Given the description of an element on the screen output the (x, y) to click on. 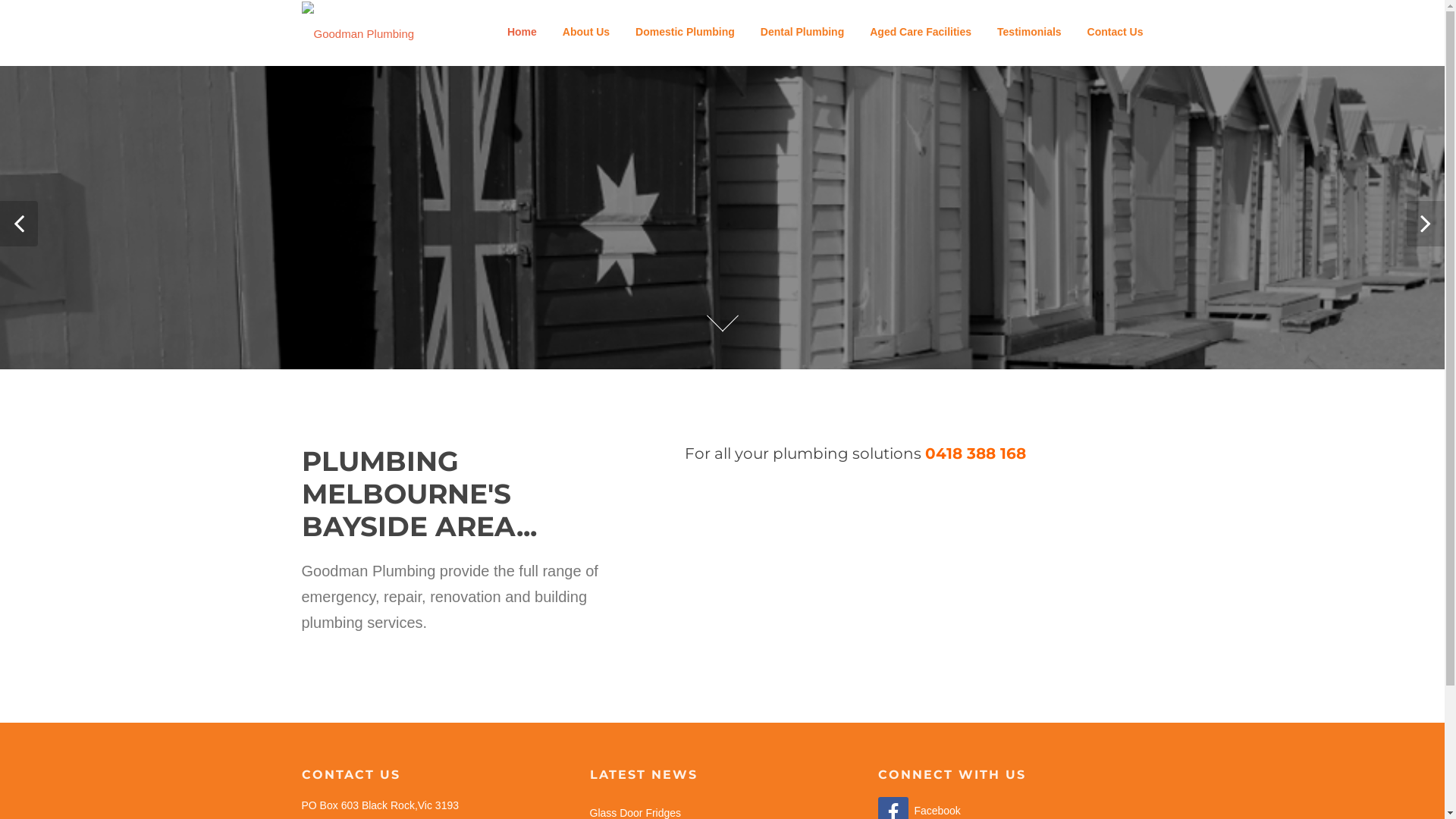
Facebook Element type: text (919, 810)
Domestic Plumbing Element type: text (684, 32)
Dental Plumbing Element type: text (801, 32)
Home Element type: text (521, 32)
Aged Care Facilities Element type: text (920, 32)
About Us Element type: text (585, 32)
Testimonials Element type: text (1029, 32)
Contact Us Element type: text (1108, 32)
